Given the description of an element on the screen output the (x, y) to click on. 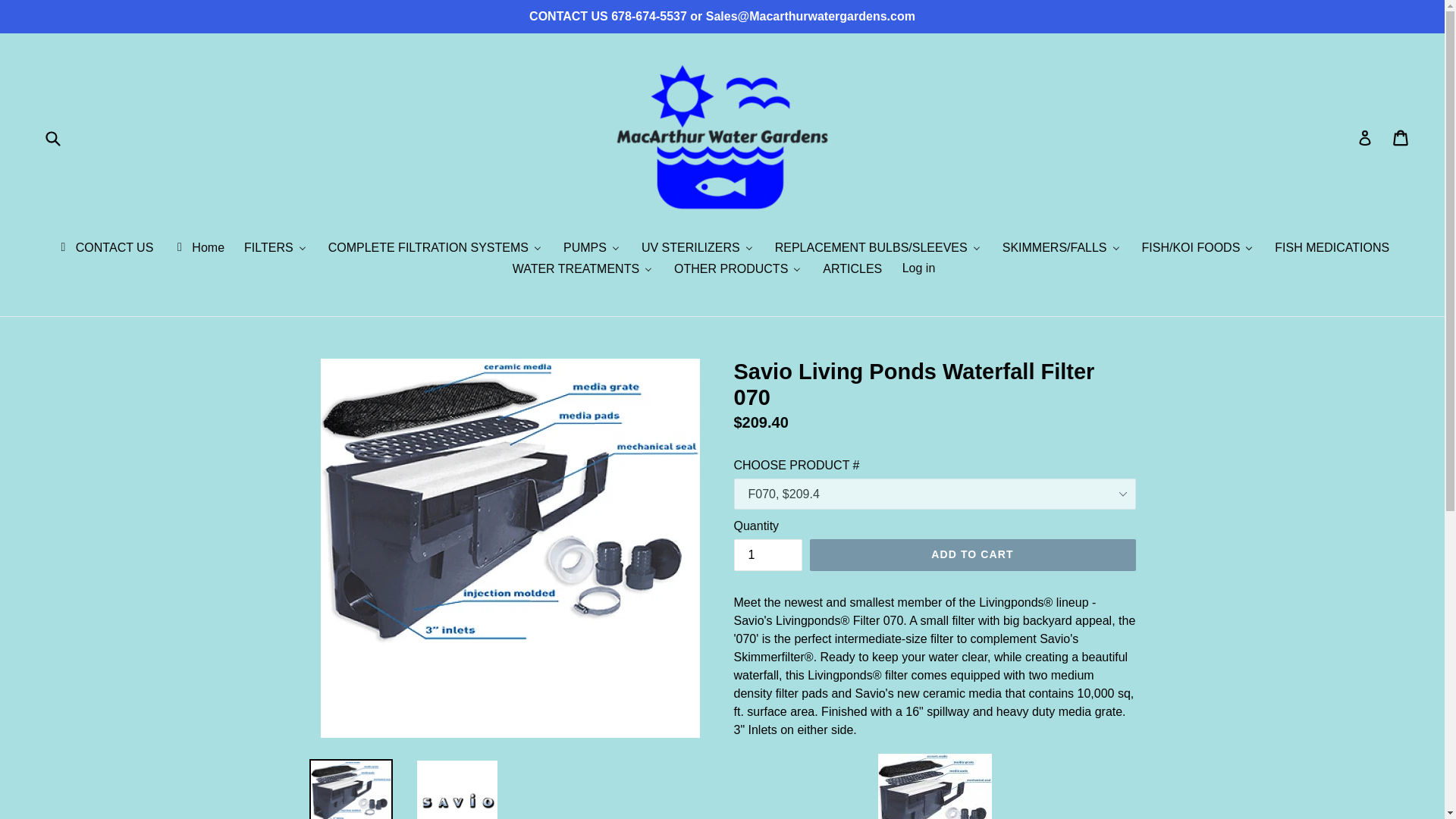
1 (767, 554)
